Given the description of an element on the screen output the (x, y) to click on. 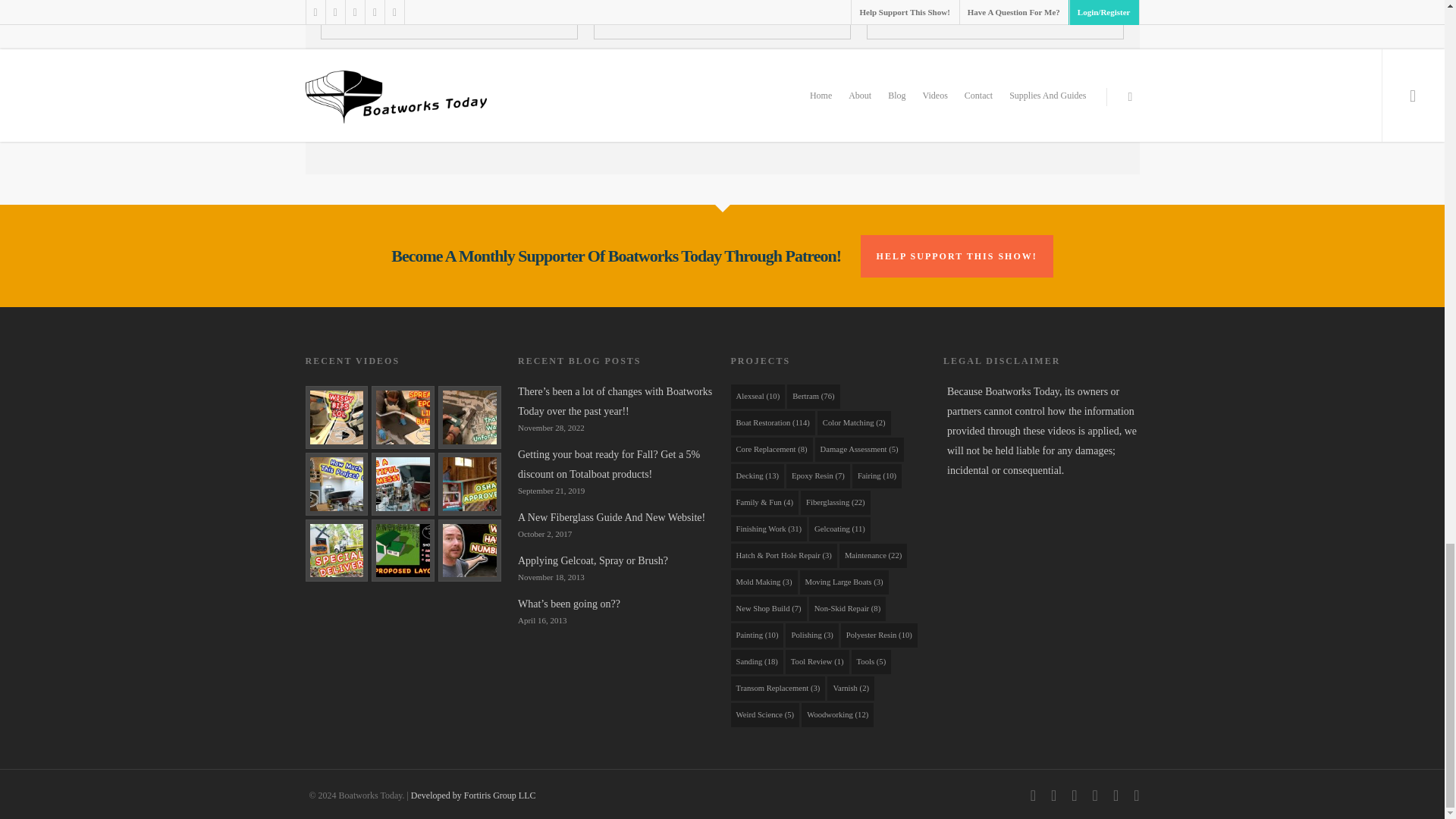
New Boat Shop Update: Costs And First Steps! (469, 550)
THE NEW BOATWORKS TODAY SHOP IS READY! (402, 483)
THE NEW BOATWORKS TODAY SHOP BUILD BEGINS! (336, 550)
GETTING READY TO INSULATE THE BOAT SHOP! (469, 483)
NEW BOAT SHOP UPDATE: ADDITION AND ELECTRICAL! (402, 550)
Submit Comment (721, 104)
